Given the description of an element on the screen output the (x, y) to click on. 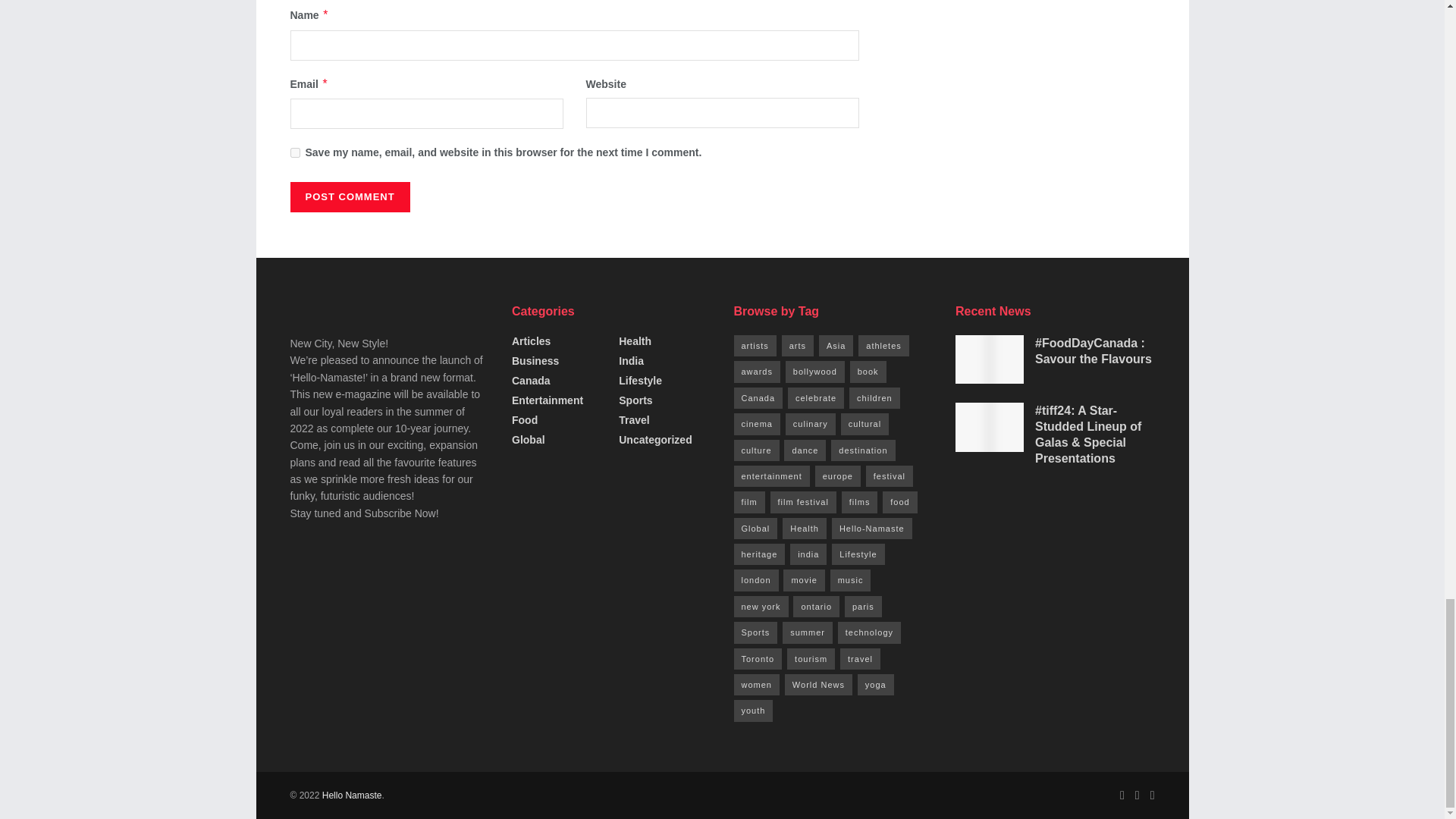
yes (294, 153)
Post Comment (349, 196)
